Given the description of an element on the screen output the (x, y) to click on. 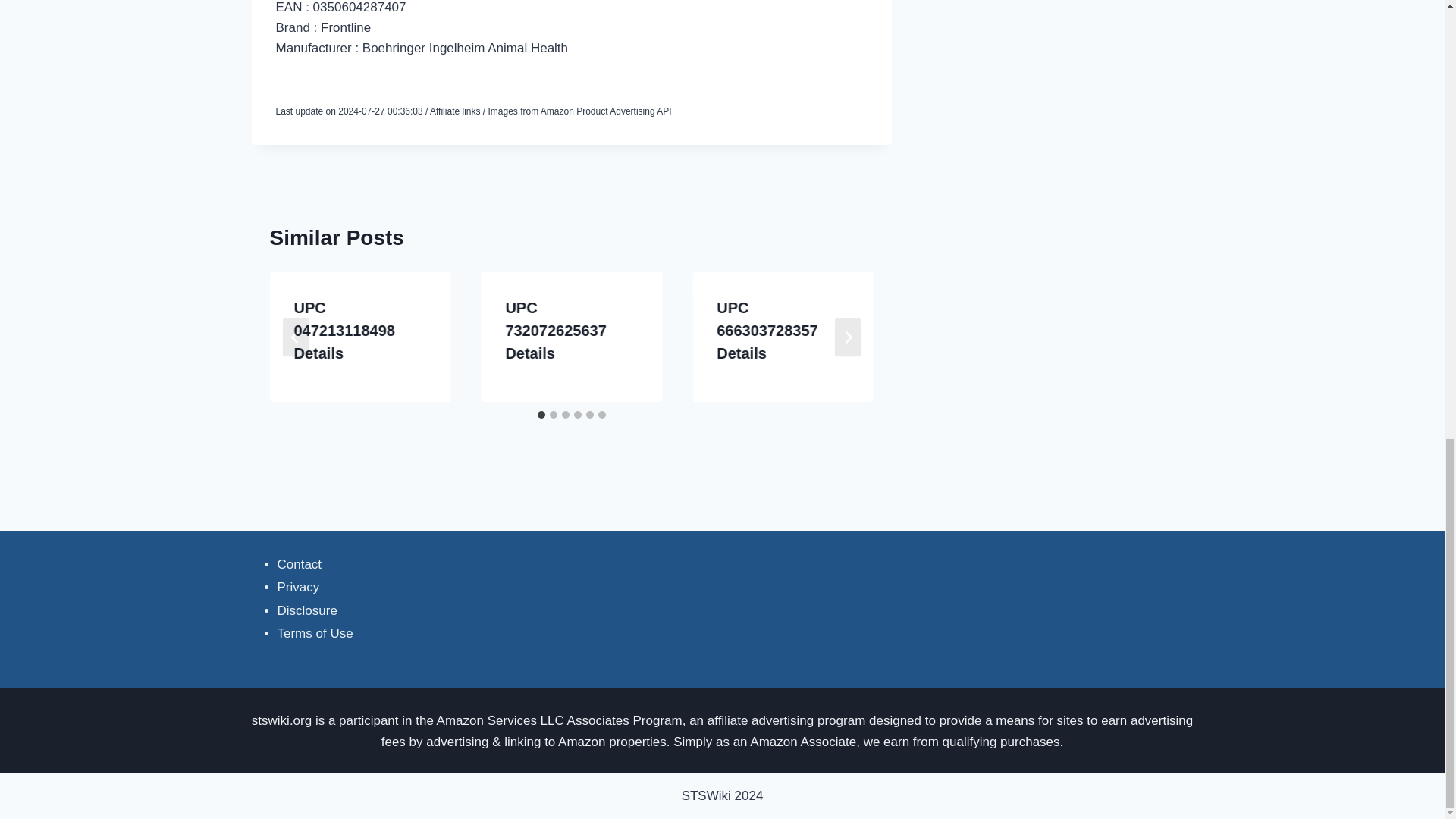
Disclosure (307, 610)
UPC 666303728357 Details (766, 330)
Privacy (299, 586)
Contact (299, 564)
UPC 047213118498 Details (344, 330)
UPC 732072625637 Details (555, 330)
Terms of Use (315, 633)
